Given the description of an element on the screen output the (x, y) to click on. 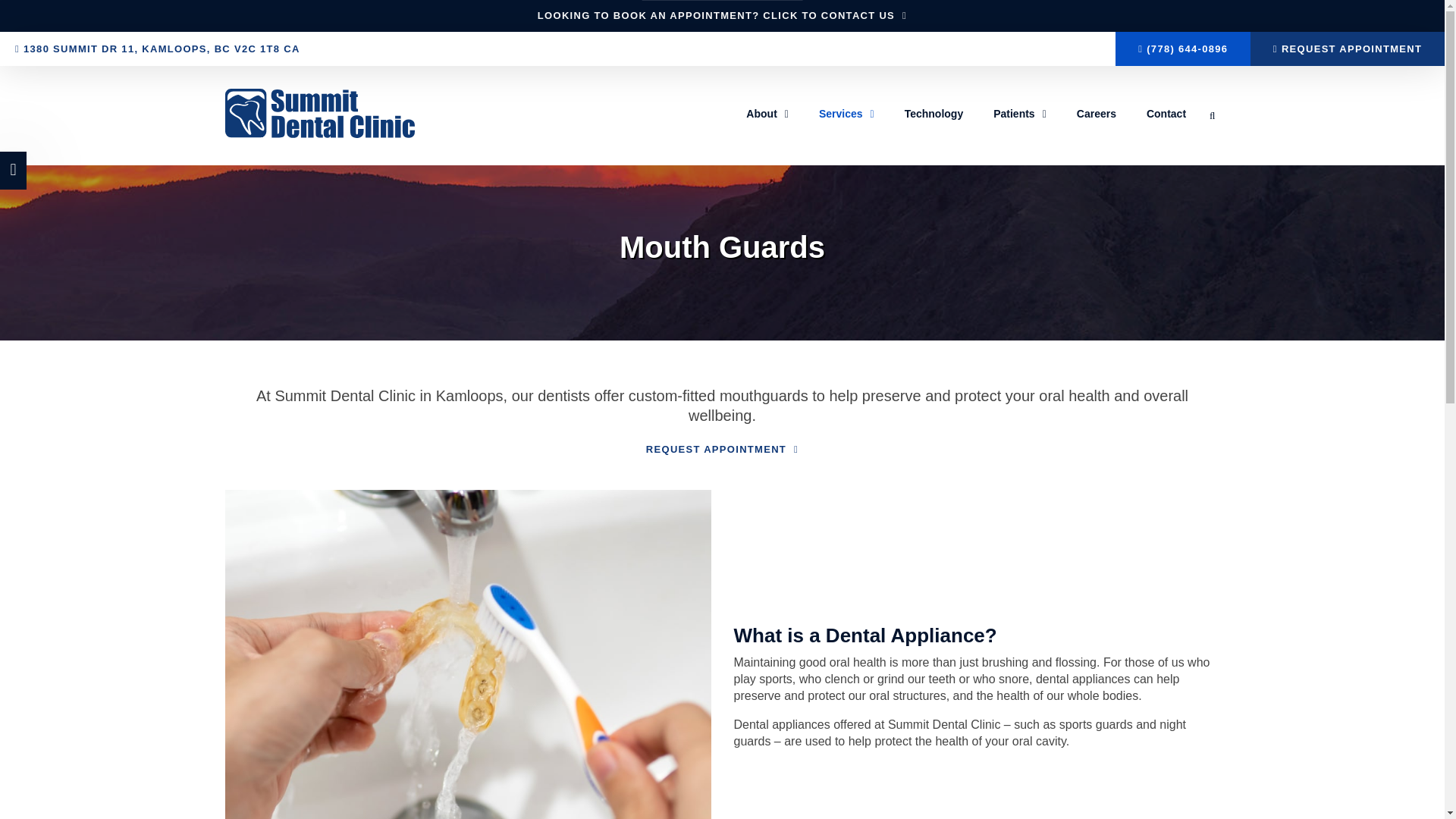
1380 SUMMIT DR 11 KAMLOOPS BC V2C 1T8 CA (366, 48)
About Summit Dental Clinic, Kamloops Dentist (766, 113)
Services (846, 113)
About (766, 113)
LOOKING TO BOOK AN APPOINTMENT? CLICK TO CONTACT US (722, 15)
